Given the description of an element on the screen output the (x, y) to click on. 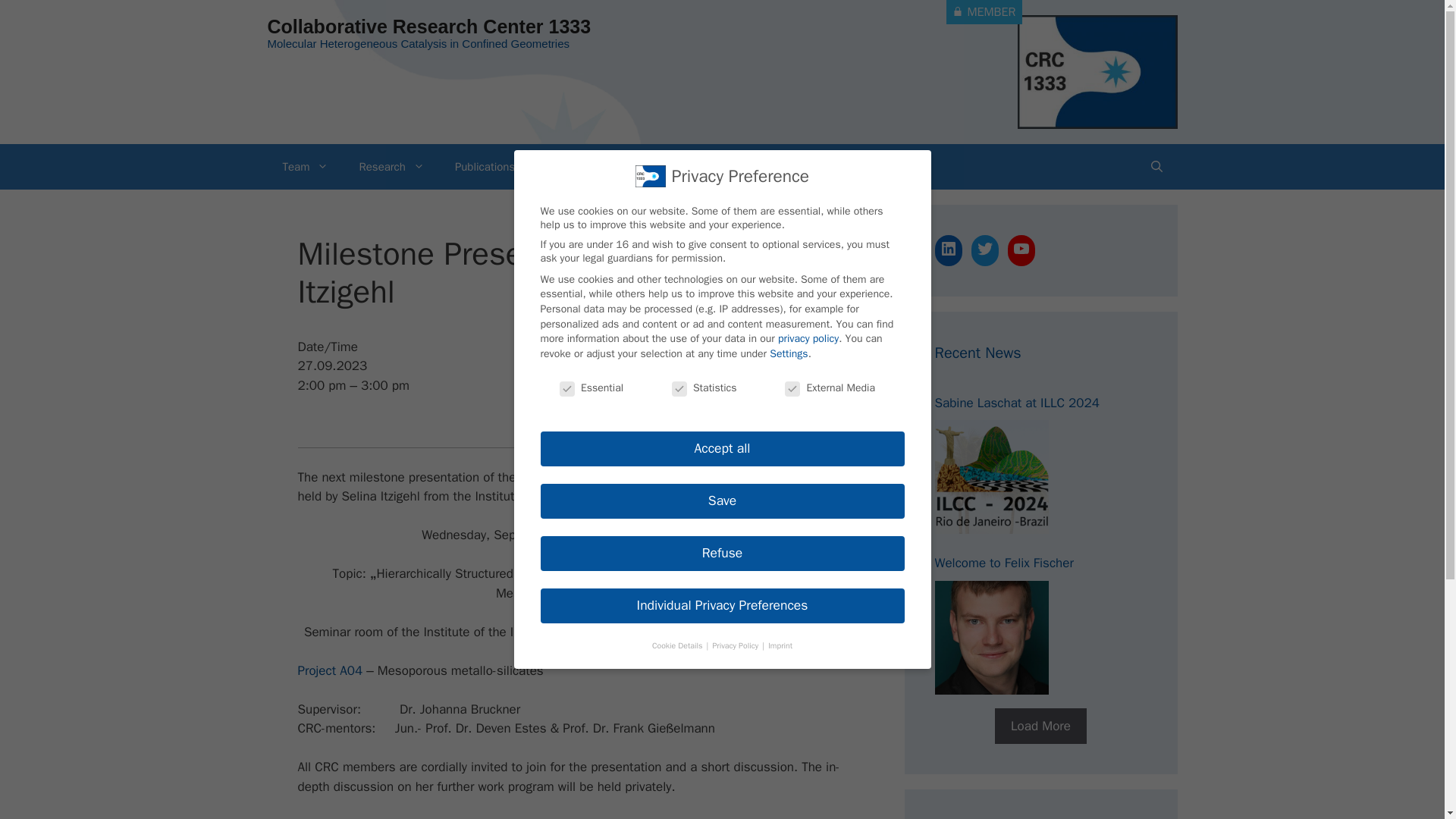
Team (304, 166)
Sabine Laschat at ILLC 2024 (991, 476)
Collaborative Research Center 1333 (428, 25)
Welcome to Felix Fischer (991, 637)
MEMBER (984, 12)
Research (391, 166)
